Given the description of an element on the screen output the (x, y) to click on. 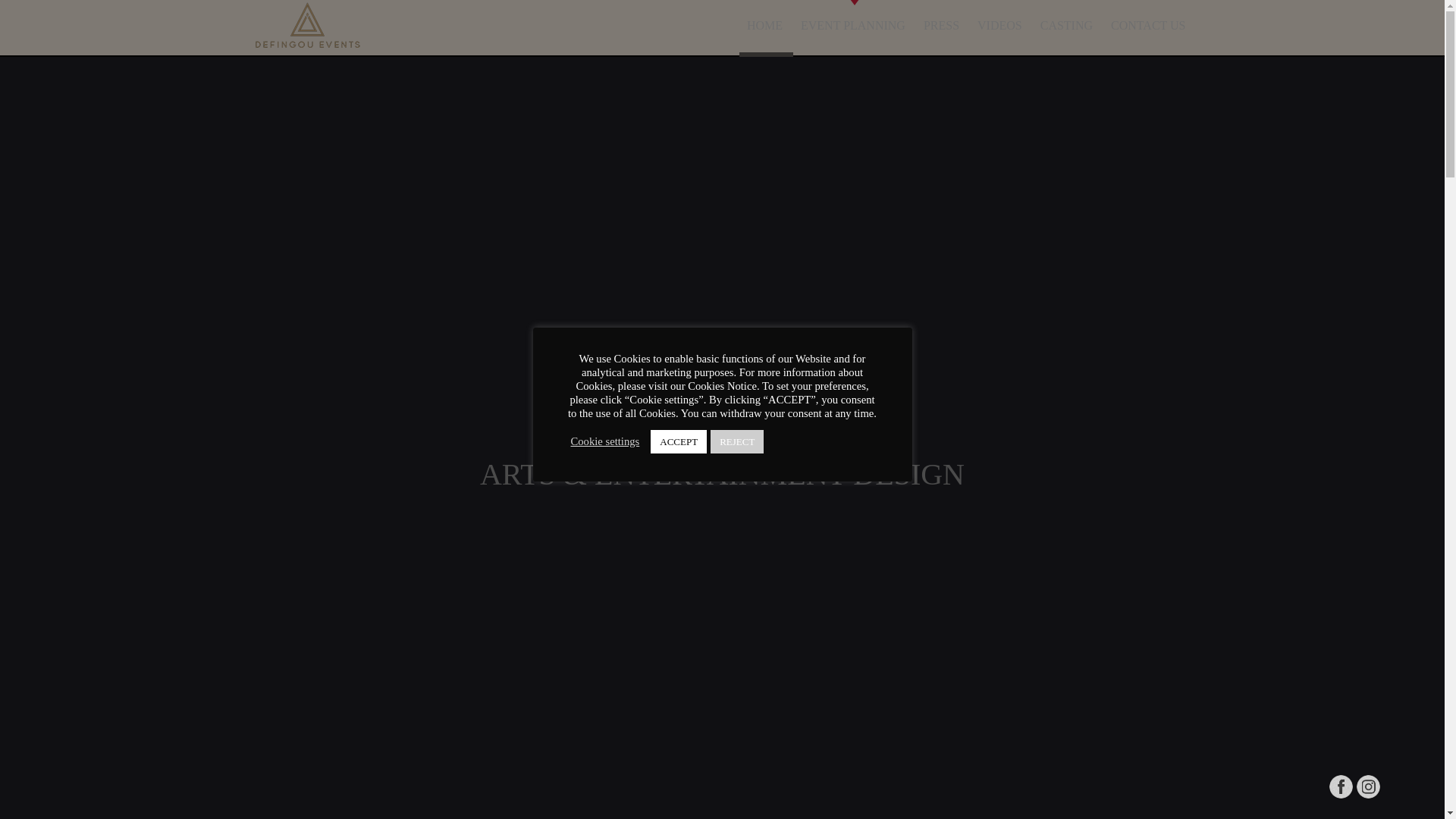
CASTING (1067, 26)
VIDEOS (1000, 26)
EVENT PLANNING (854, 26)
CONTACT US (1149, 26)
Visit Us On Facebook (1340, 796)
HOME (766, 26)
Visit Us On Instagram (1367, 796)
PRESS (942, 26)
Event Planning (854, 26)
